Given the description of an element on the screen output the (x, y) to click on. 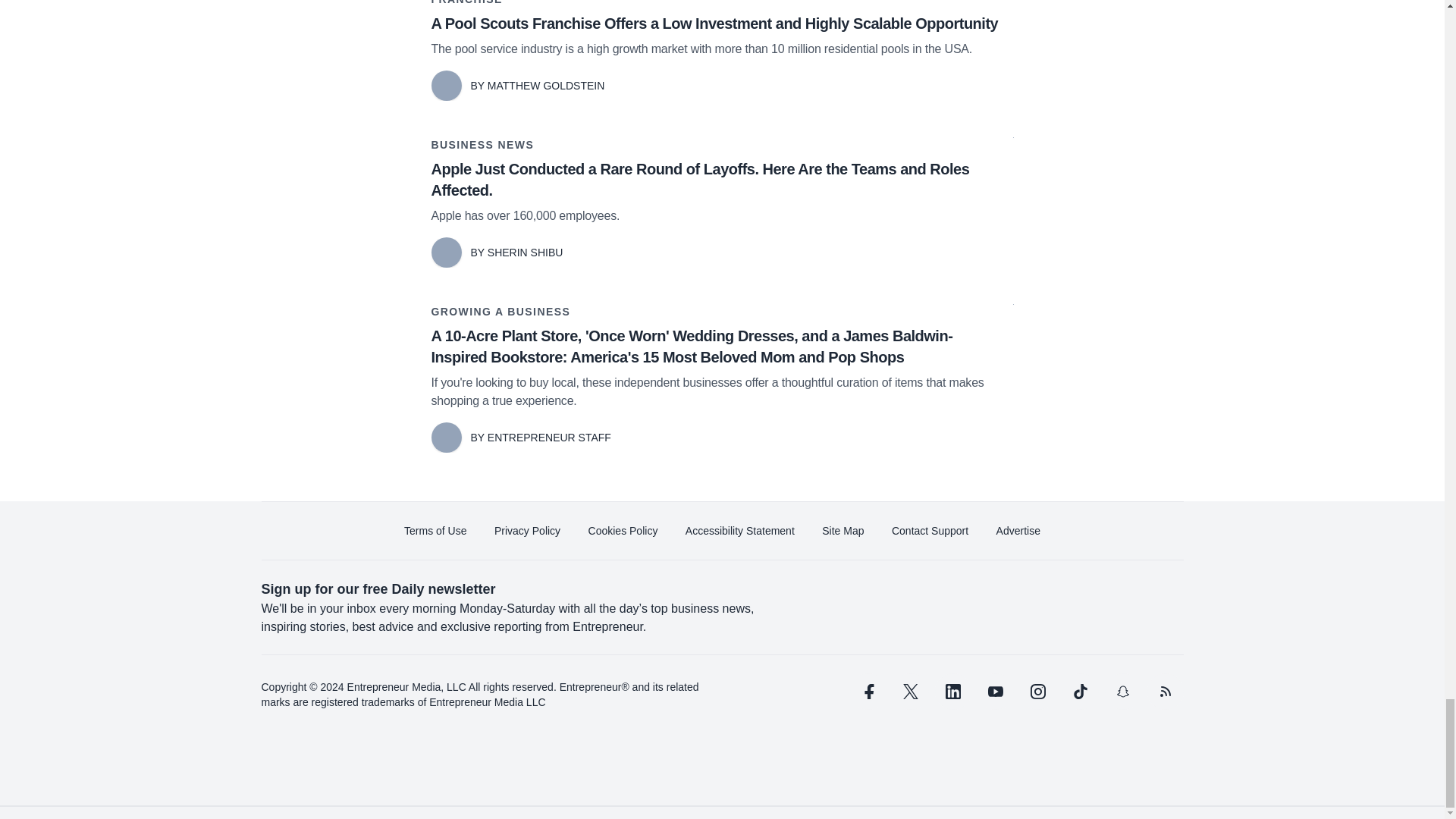
instagram (1037, 691)
linkedin (952, 691)
tiktok (1079, 691)
snapchat (1121, 691)
facebook (866, 691)
youtube (994, 691)
twitter (909, 691)
